Given the description of an element on the screen output the (x, y) to click on. 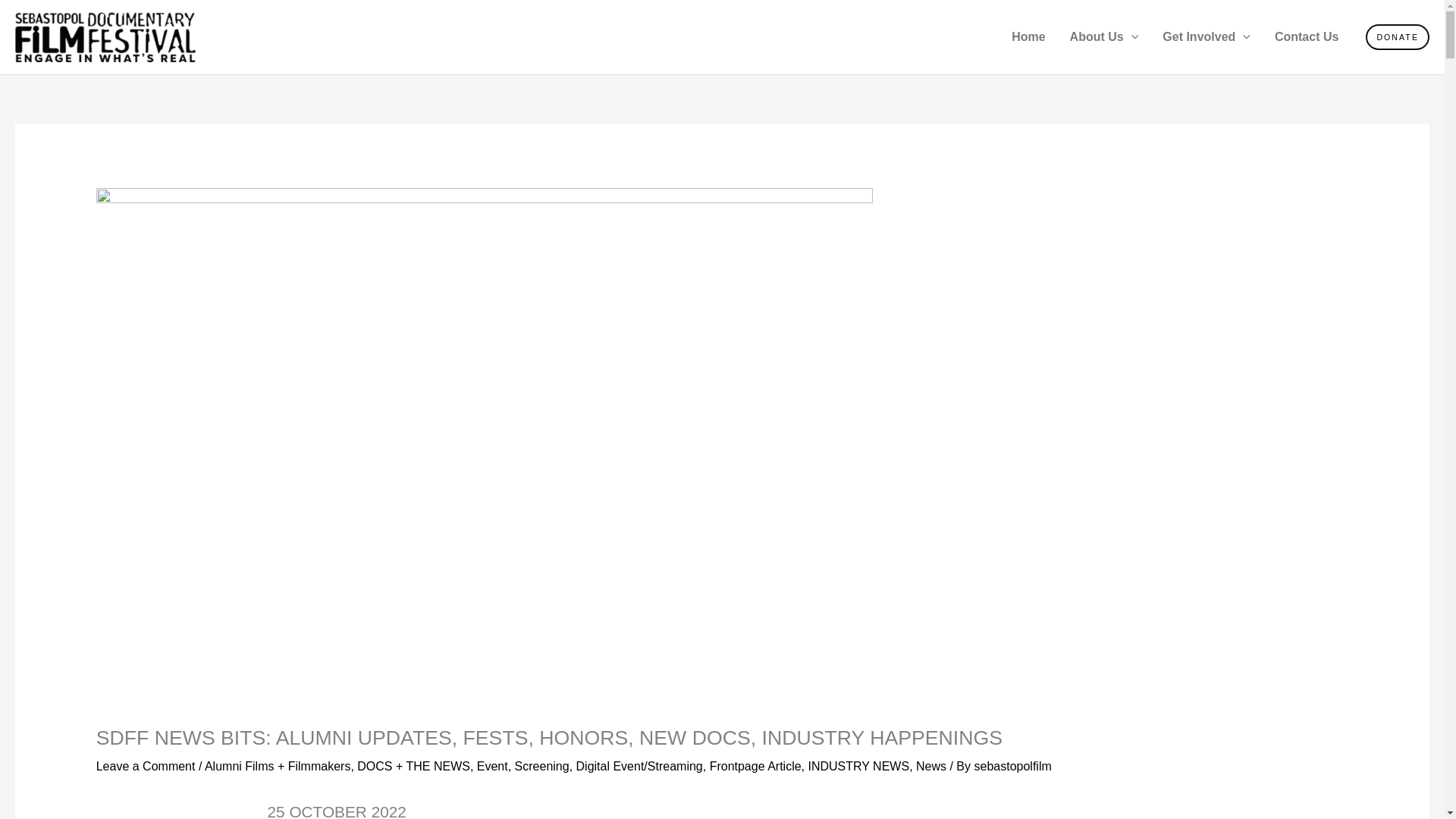
INDUSTRY NEWS (858, 766)
About Us (1104, 36)
Contact Us (1306, 36)
Frontpage Article (756, 766)
Home (1027, 36)
DONATE (1397, 37)
Get Involved (1206, 36)
Leave a Comment (145, 766)
View all posts by sebastopolfilm (1012, 766)
